Given the description of an element on the screen output the (x, y) to click on. 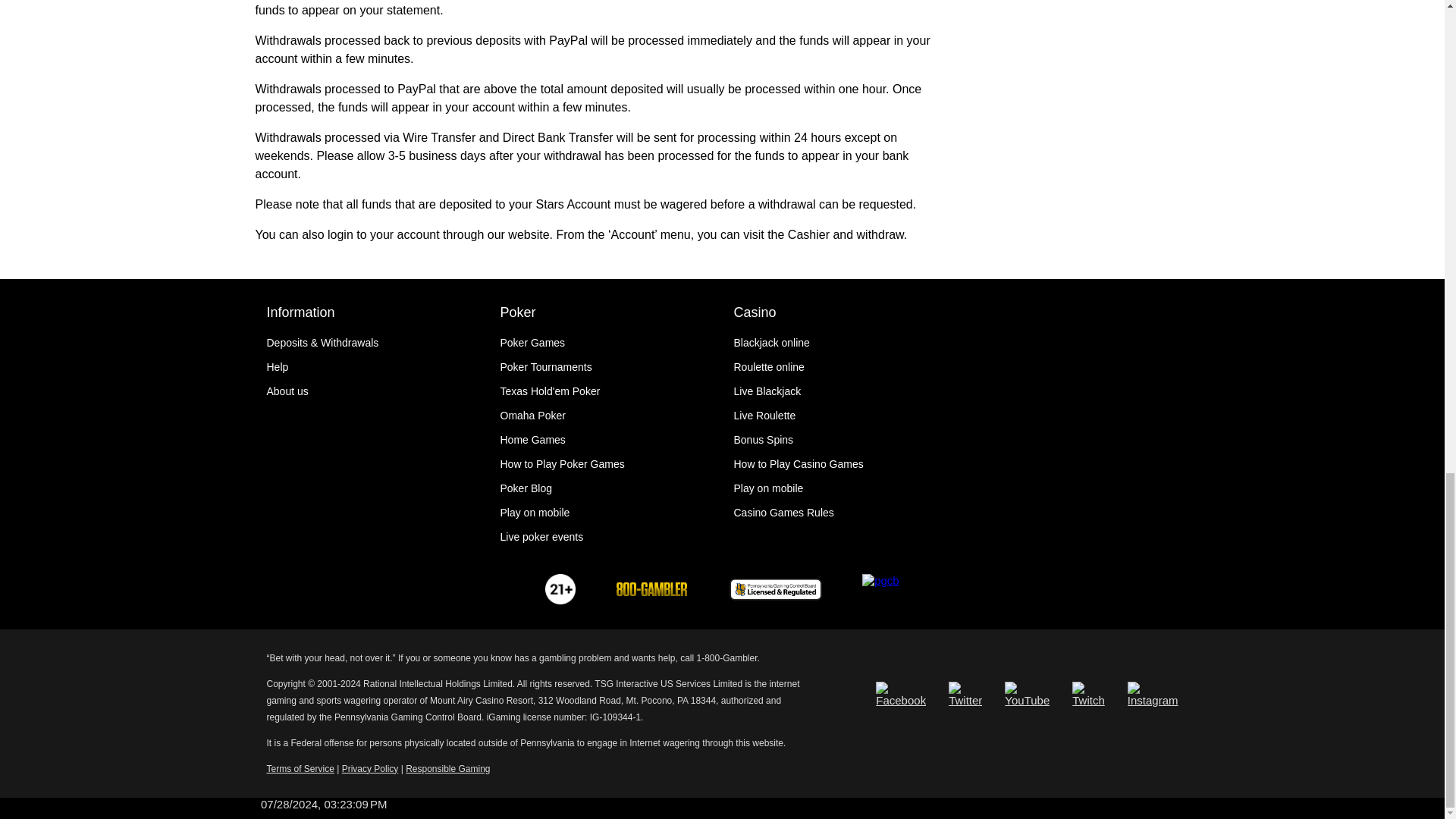
About us (287, 390)
Roulette online (769, 367)
Omaha Poker (533, 415)
Live poker events (541, 536)
Poker Games (533, 342)
Live Roulette (764, 415)
How to Play Poker Games (562, 463)
Live Blackjack (767, 390)
Texas Hold'em Poker (549, 390)
Help (277, 367)
Blackjack online (771, 342)
Poker Tournaments (546, 367)
Poker Blog (525, 488)
Home Games (533, 439)
Play on mobile (535, 512)
